Given the description of an element on the screen output the (x, y) to click on. 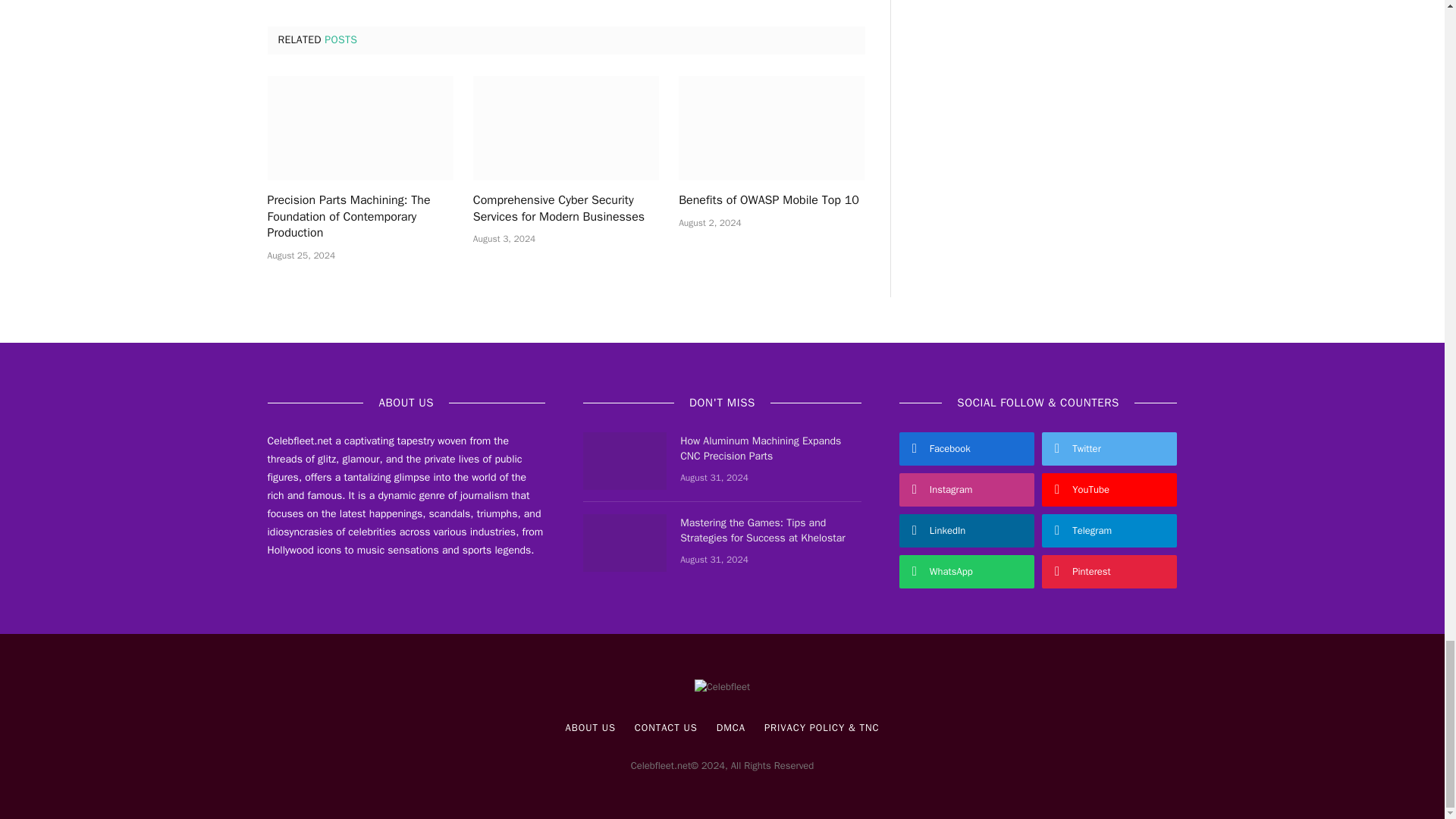
Benefits of OWASP Mobile Top 10 (771, 200)
Benefits of OWASP Mobile Top 10 (771, 128)
Comprehensive Cyber Security Services for Modern Businesses (566, 209)
Comprehensive Cyber Security Services for Modern Businesses (566, 128)
